Given the description of an element on the screen output the (x, y) to click on. 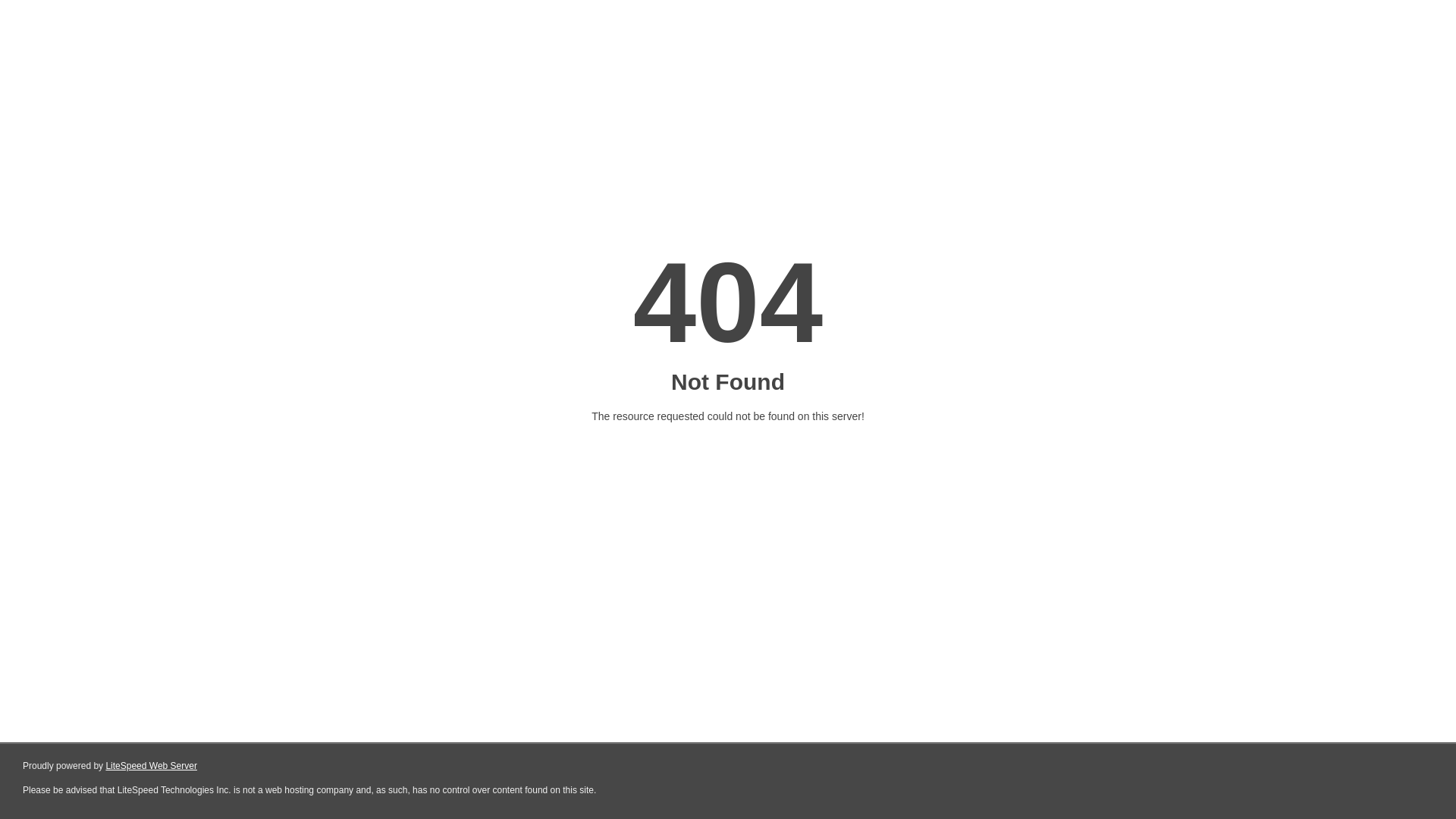
LiteSpeed Web Server Element type: text (151, 765)
